Given the description of an element on the screen output the (x, y) to click on. 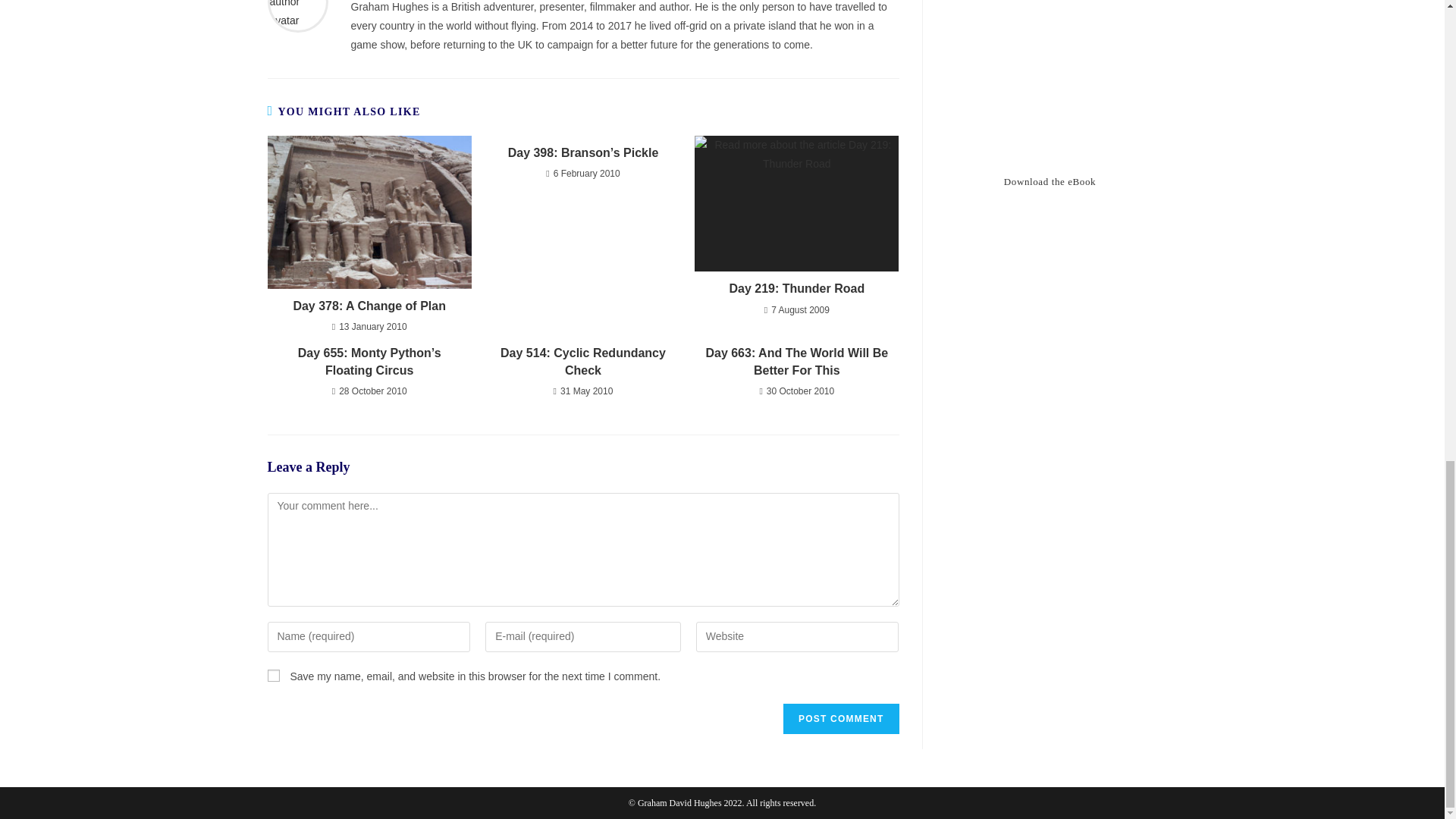
yes (272, 675)
Post Comment (840, 718)
Visit author page (296, 3)
